Given the description of an element on the screen output the (x, y) to click on. 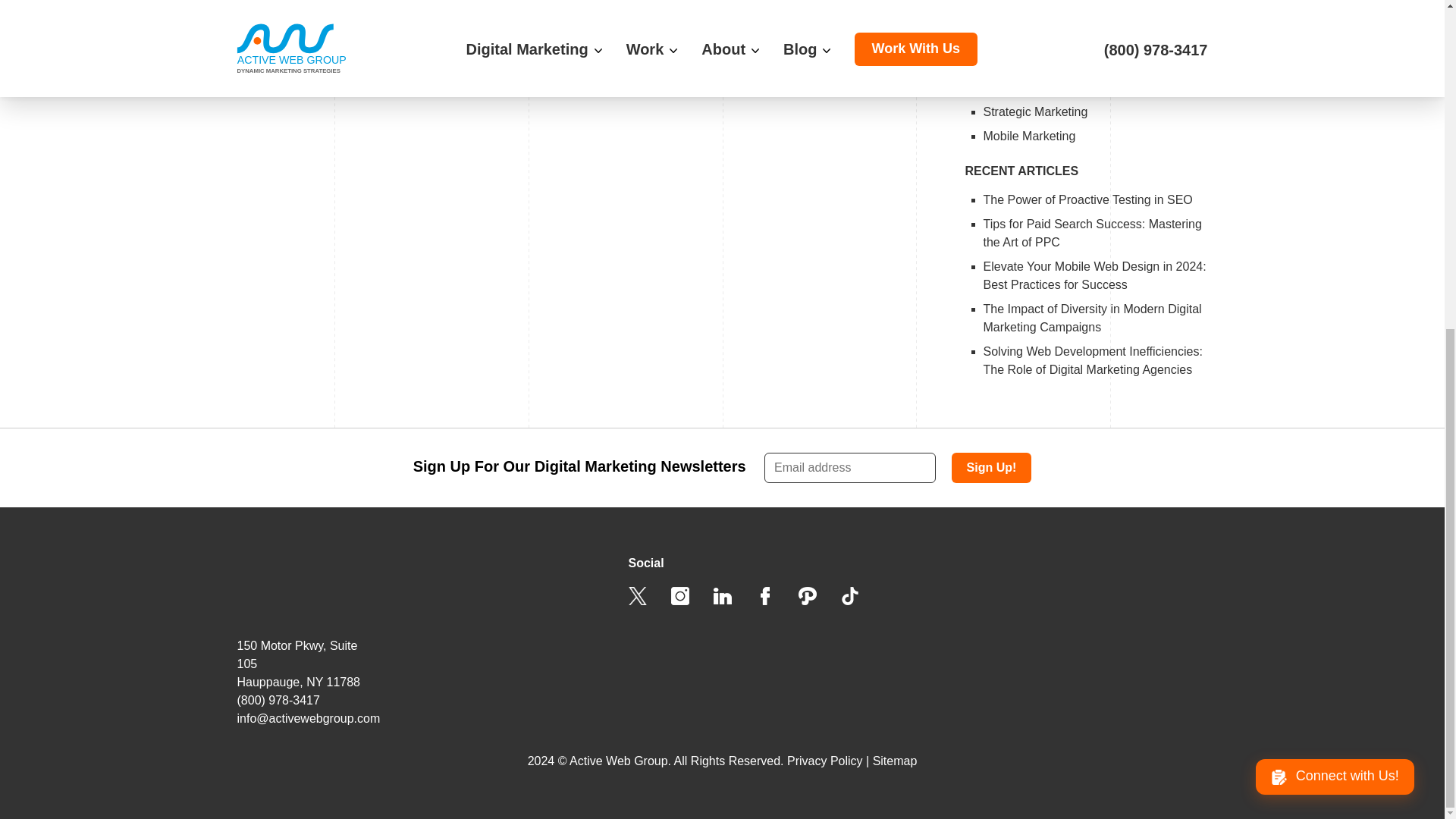
Sign Up! (992, 467)
